Given the description of an element on the screen output the (x, y) to click on. 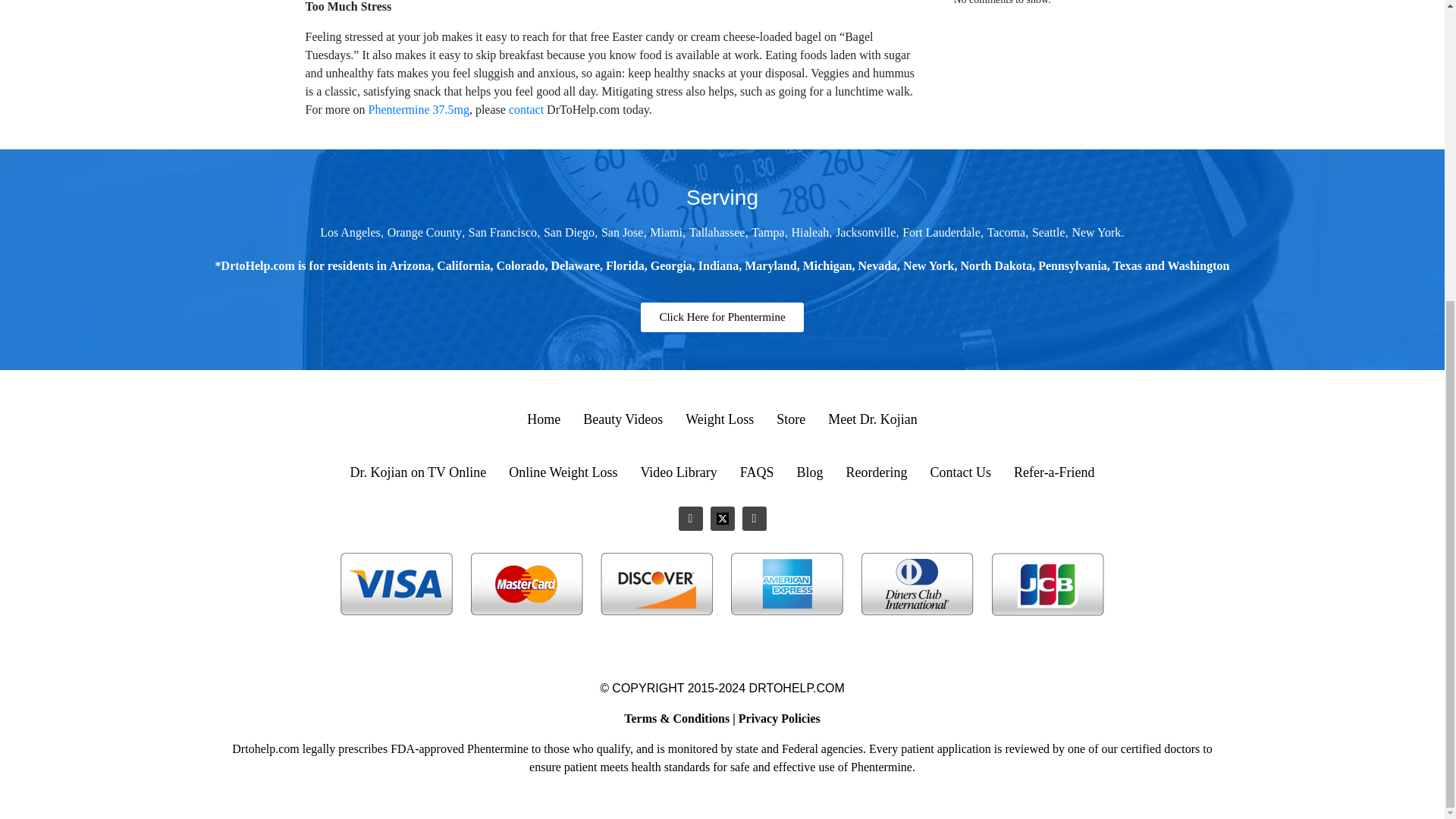
Miami (665, 232)
Phentermine Weight Loss in Fort Lauderdale (940, 232)
Fast Weight Loss Solutions for Orange County Residents (424, 232)
Weight Loss Pills Seattle (1048, 232)
Phentermine Weight Loss in Los Angeles (350, 232)
Fort Lauderdale (940, 232)
Fast Hialeah Area Weight Loss (810, 232)
Phentermine 37.5mg (418, 109)
Hialeah (810, 232)
Phentermine Weight Loss in Tallahassee (716, 232)
Phentermine Weight Loss Jacksonville (865, 232)
Phentermine Weight Loss for Tampa Residents (767, 232)
Phentermine Weight Loss Assistance in Miami (665, 232)
San Diego (568, 232)
Tallahassee (716, 232)
